Given the description of an element on the screen output the (x, y) to click on. 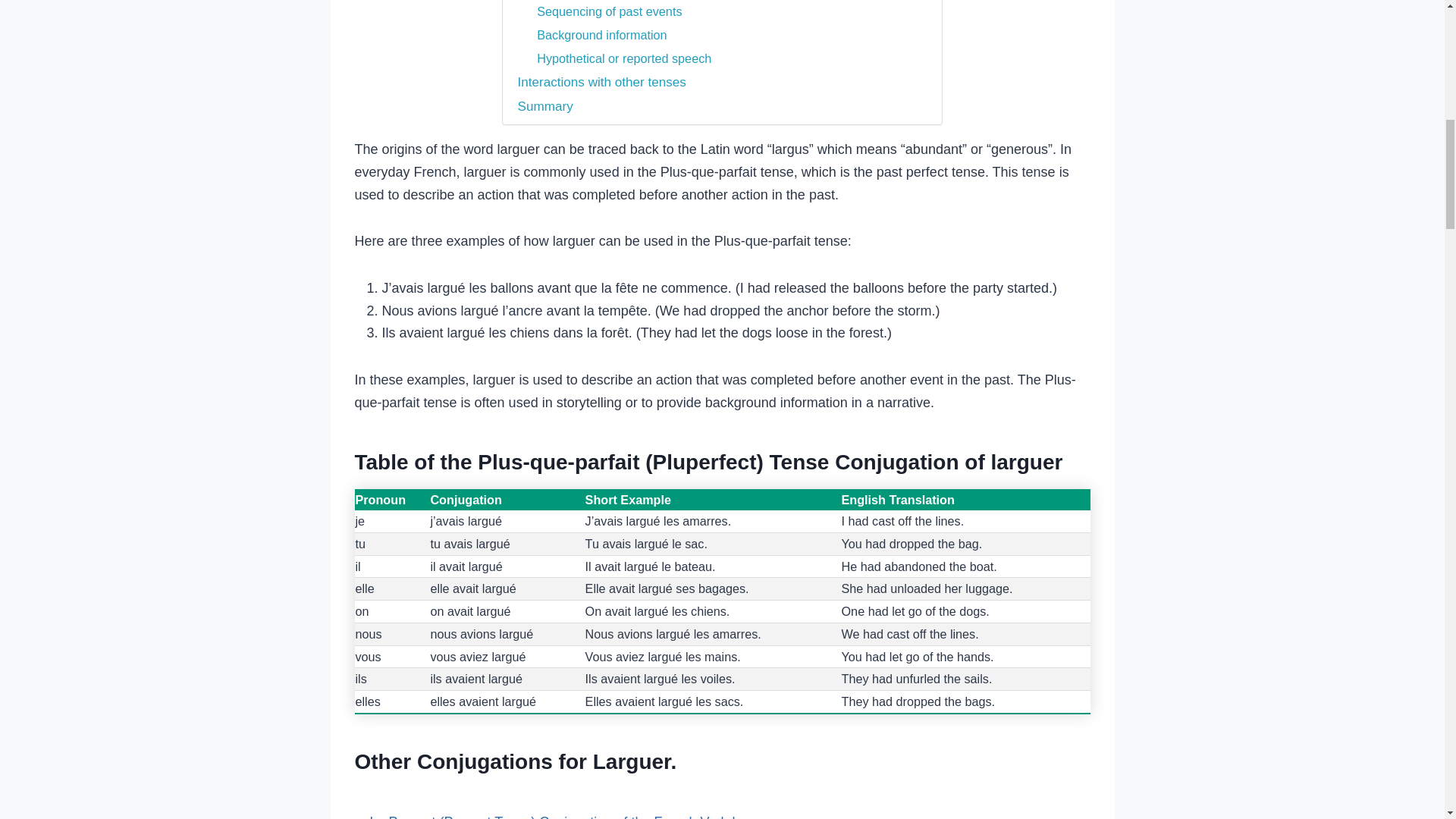
Interactions with other tenses (602, 79)
Background information (601, 33)
Summary (545, 104)
Hypothetical or reported speech (624, 56)
Summary (545, 104)
Sequencing of past events (608, 10)
Interactions with other tenses (602, 79)
Hypothetical or reported speech (624, 56)
Background information (601, 33)
Sequencing of past events (608, 10)
